Given the description of an element on the screen output the (x, y) to click on. 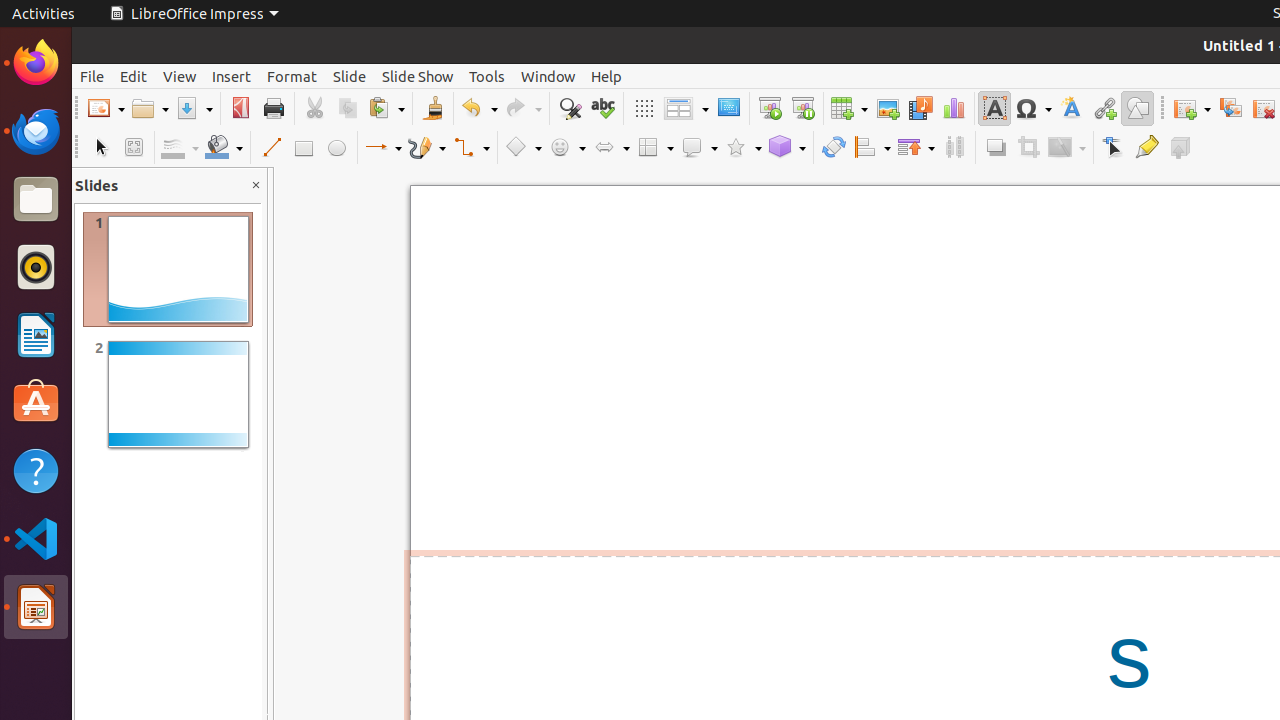
Cut Element type: push-button (314, 108)
Print Element type: push-button (273, 108)
Lines and Arrows Element type: push-button (383, 147)
Arrow Shapes Element type: push-button (611, 147)
View Element type: menu (179, 76)
